Given the description of an element on the screen output the (x, y) to click on. 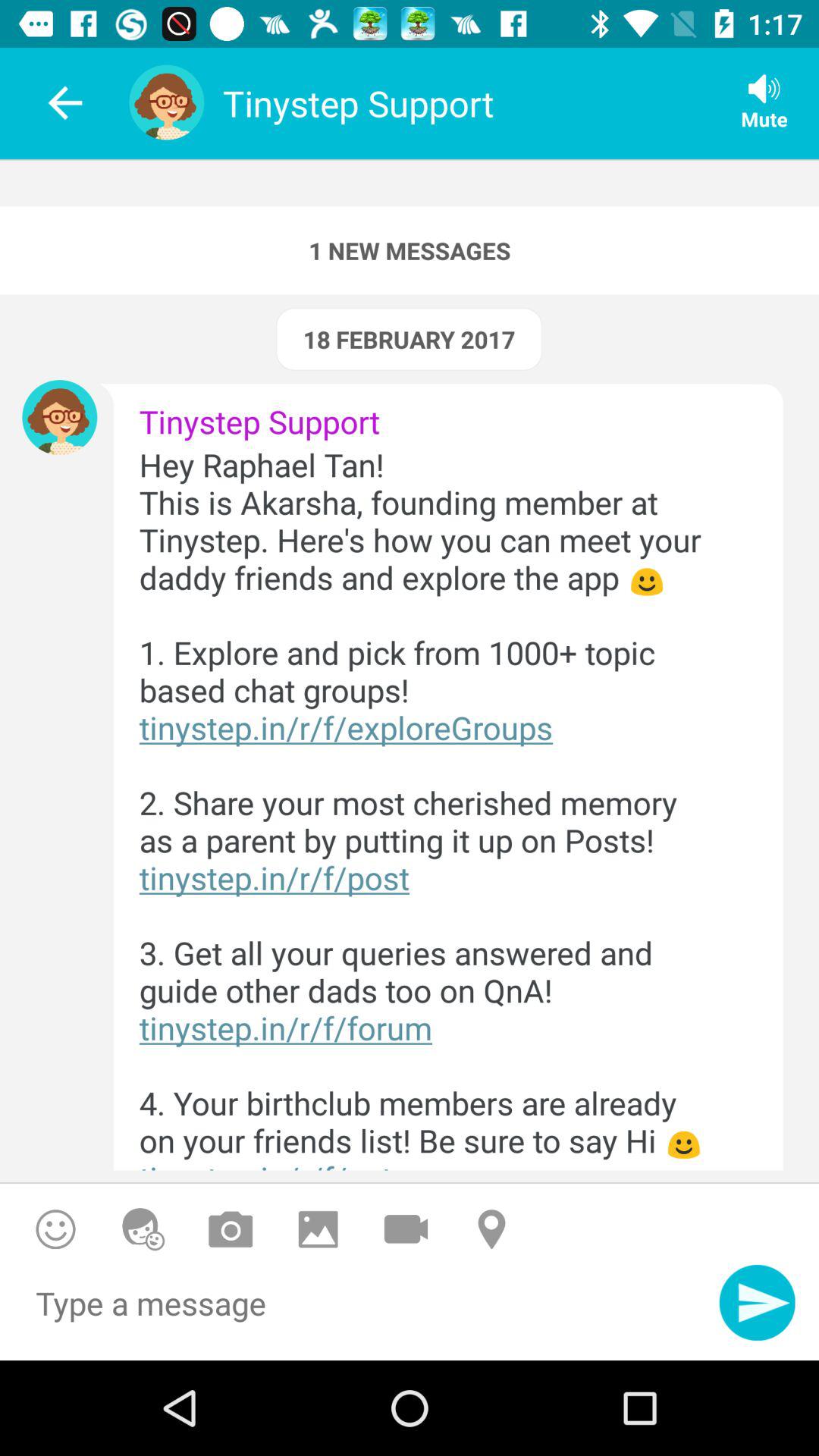
swipe to 18 february 2017 icon (409, 339)
